Given the description of an element on the screen output the (x, y) to click on. 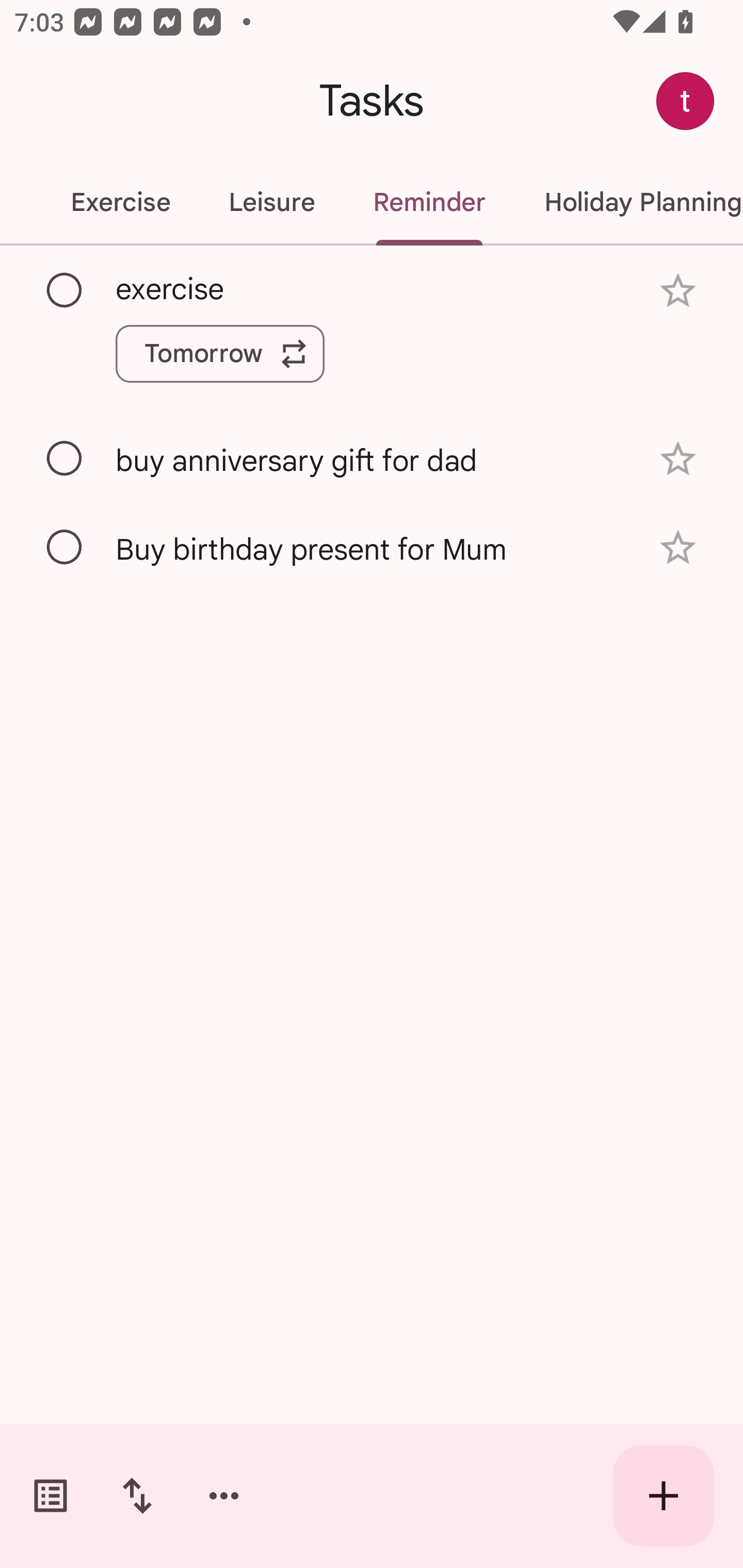
Exercise (120, 202)
Leisure (271, 202)
Holiday Planning (628, 202)
Add star (677, 290)
Mark as complete (64, 290)
Tomorrow (219, 353)
Add star (677, 458)
Mark as complete (64, 459)
Add star (677, 547)
Mark as complete (64, 547)
Switch task lists (50, 1495)
Create new task (663, 1495)
Change sort order (136, 1495)
More options (223, 1495)
